Given the description of an element on the screen output the (x, y) to click on. 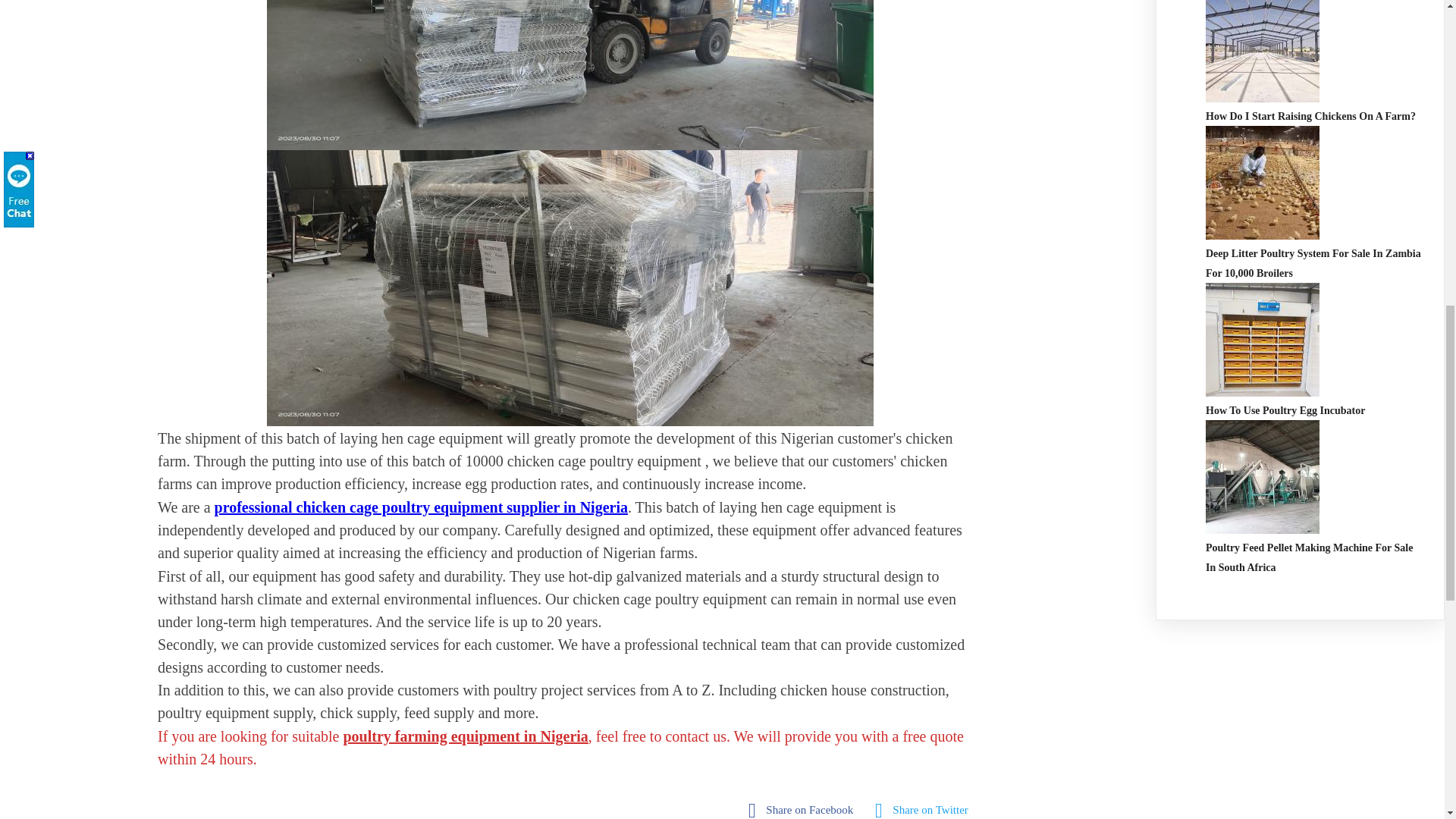
fab fa-facebook-square (804, 808)
fab fa-twitter-square (925, 808)
Share on Facebook (804, 808)
poultry farming equipment in Nigeria (465, 736)
Share on Twitter (925, 808)
